Given the description of an element on the screen output the (x, y) to click on. 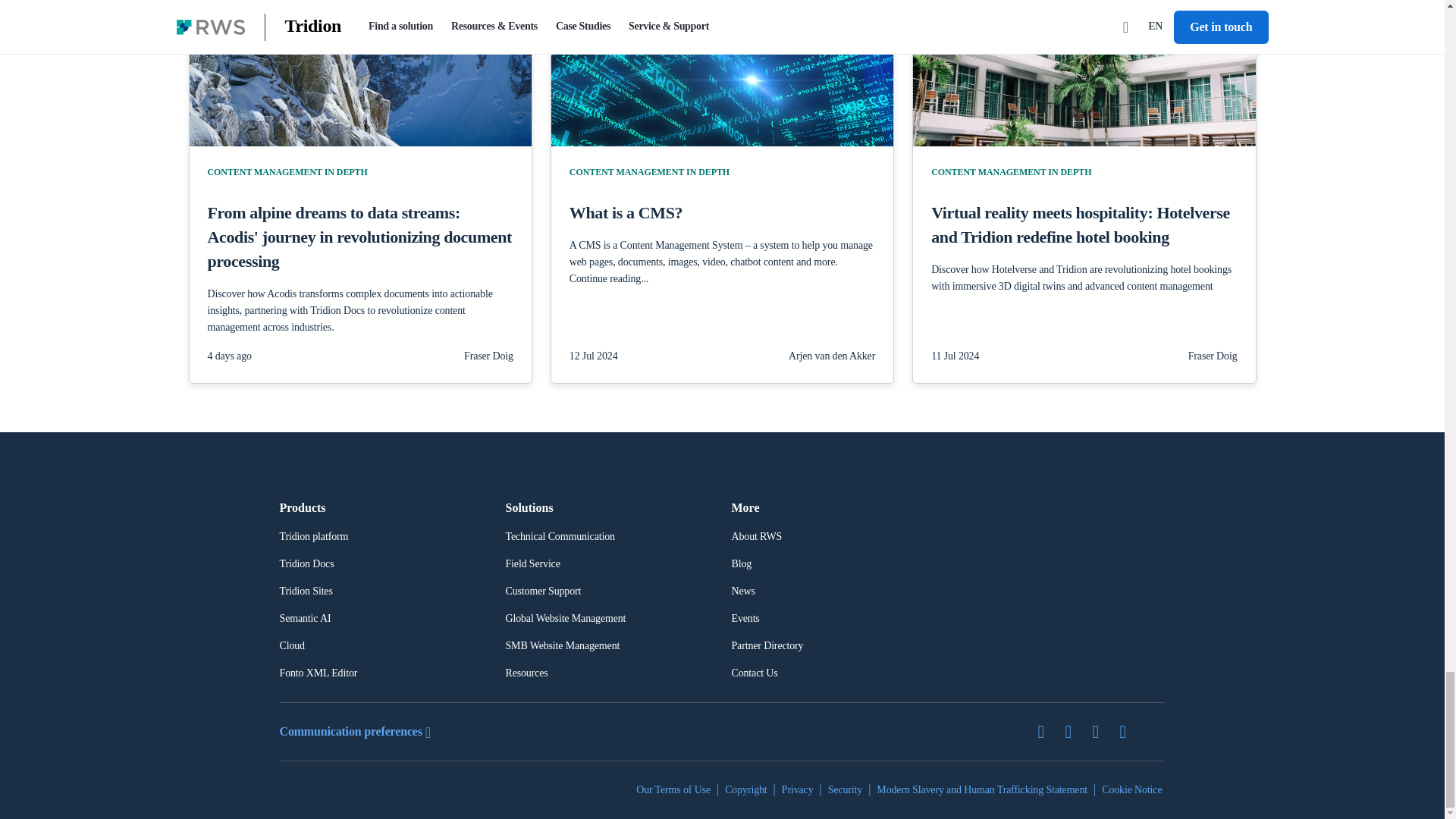
Facebook (1100, 731)
Twitter (1045, 731)
YouTube (1128, 731)
LinkedIn (1073, 731)
